Given the description of an element on the screen output the (x, y) to click on. 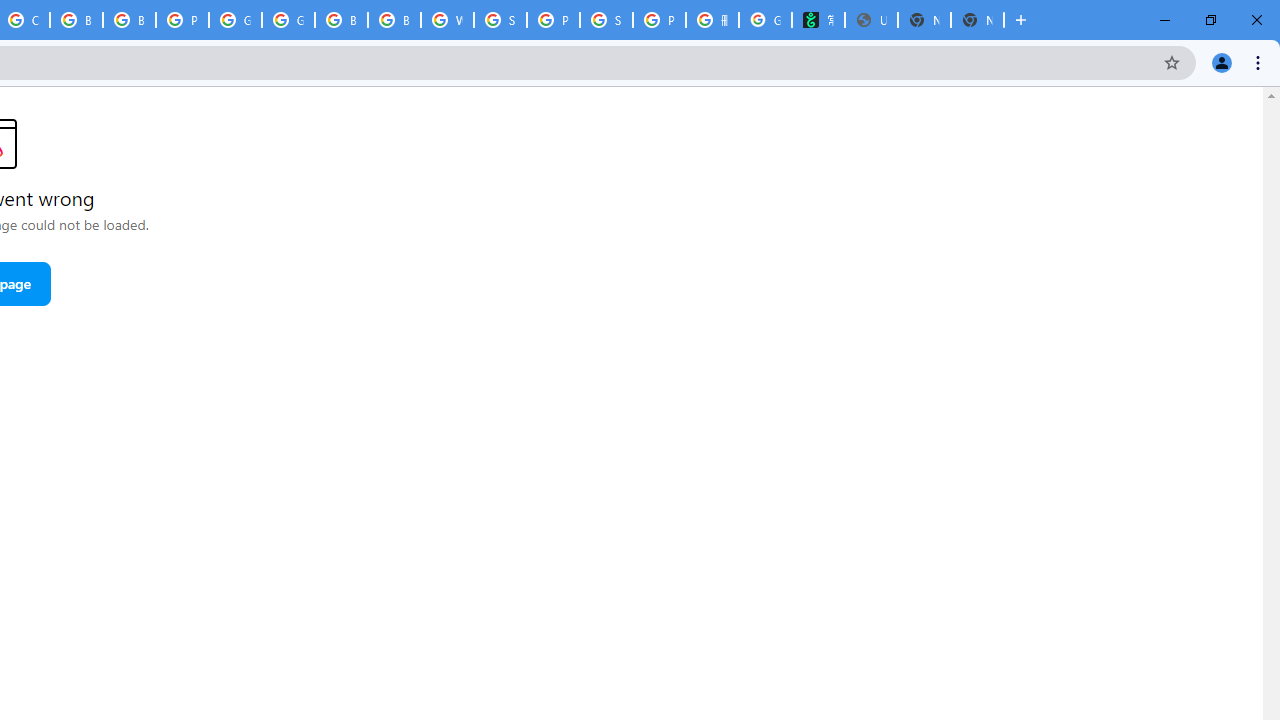
Google Cloud Platform (235, 20)
Untitled (871, 20)
Browse Chrome as a guest - Computer - Google Chrome Help (76, 20)
